Given the description of an element on the screen output the (x, y) to click on. 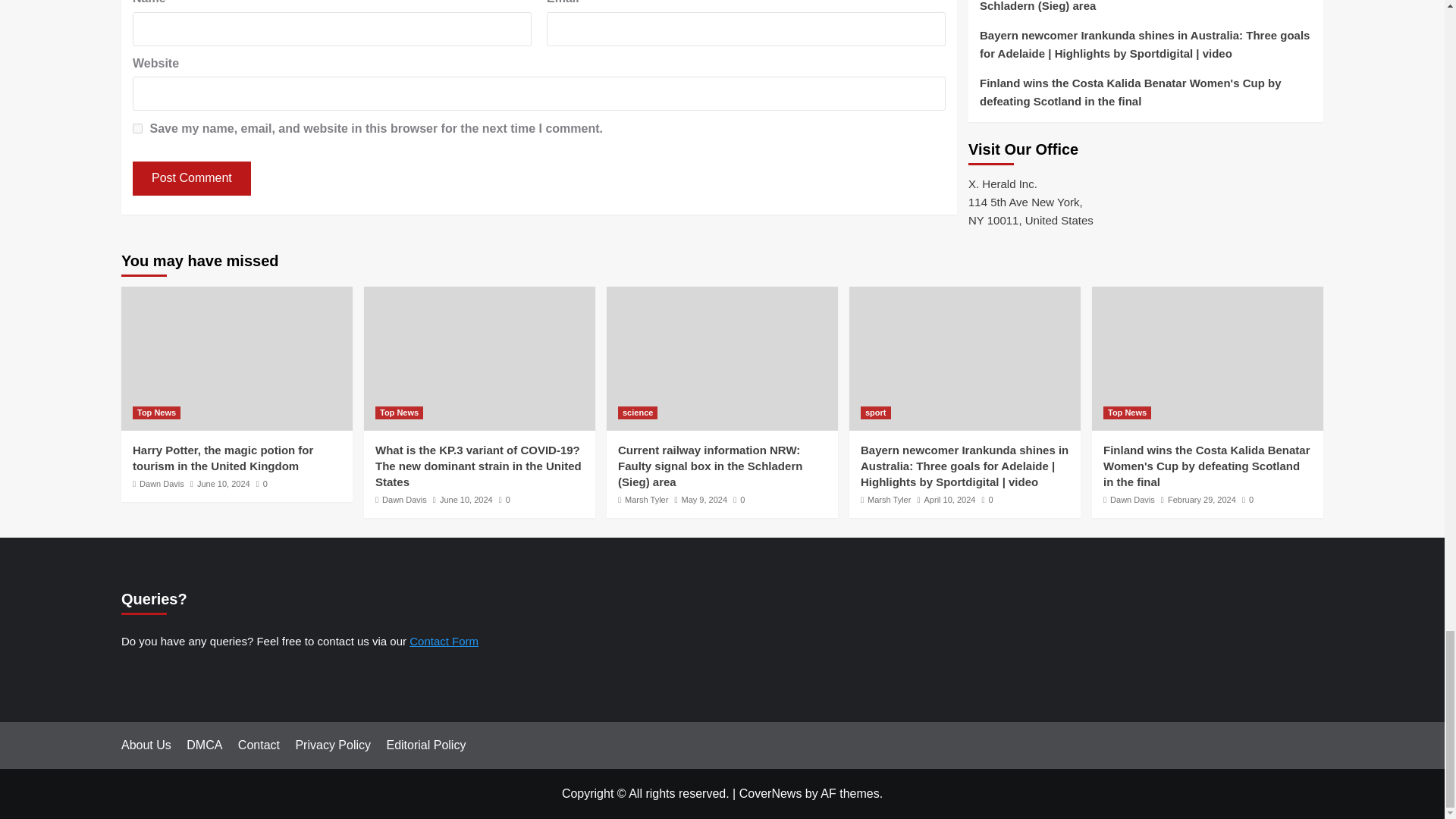
yes (137, 128)
Post Comment (191, 178)
